Given the description of an element on the screen output the (x, y) to click on. 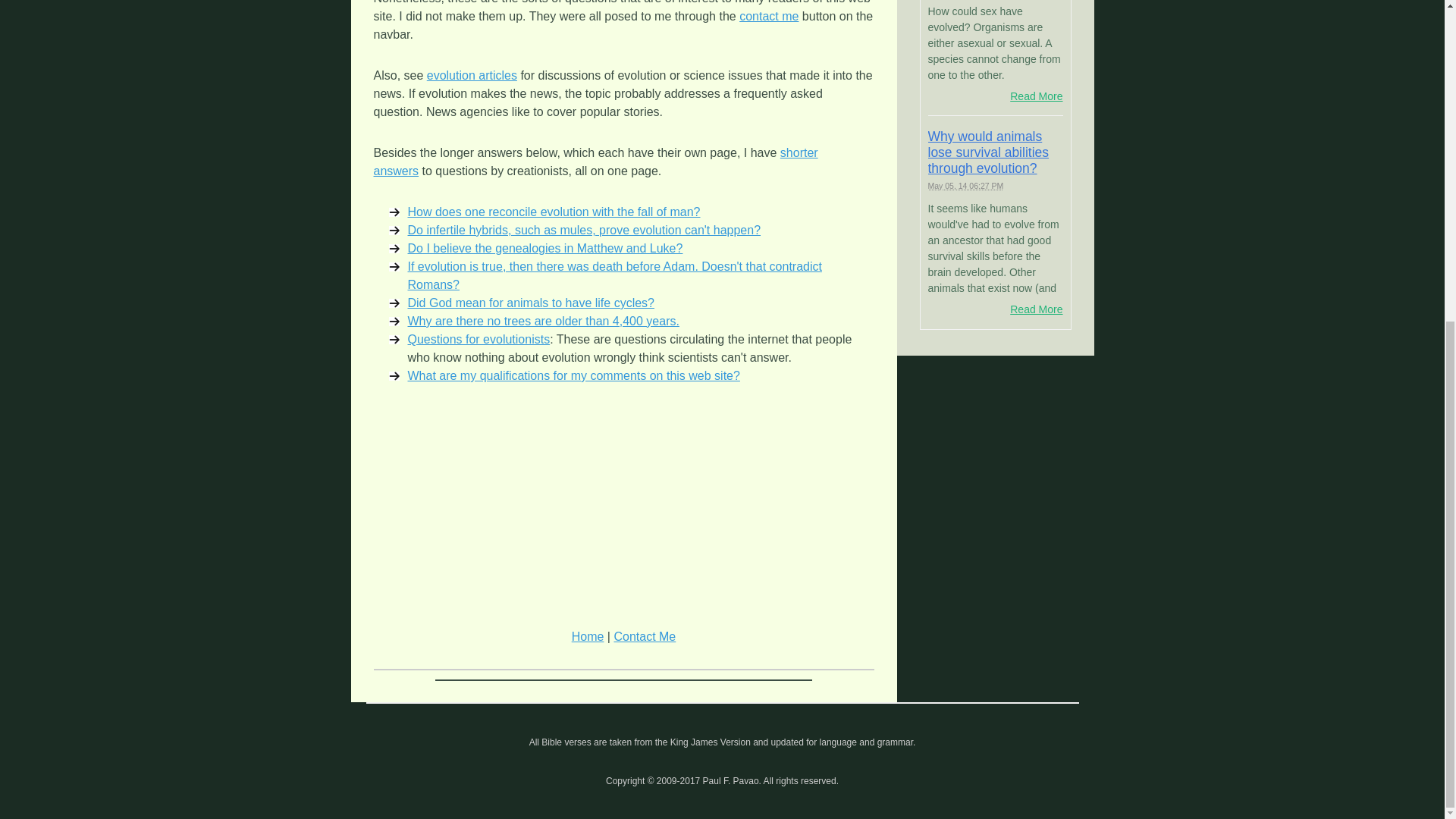
contact me (768, 15)
Questions for evolutionists (478, 338)
Advertisement (622, 513)
What are my qualifications for my comments on this web site? (573, 375)
2014-05-05T18:27:34-0400 (966, 185)
Do I believe the genealogies in Matthew and Luke? (544, 247)
How does one reconcile evolution with the fall of man? (553, 211)
Did God mean for animals to have life cycles? (530, 302)
Home (588, 635)
Why are there no trees are older than 4,400 years. (543, 320)
shorter answers (594, 161)
evolution articles (471, 74)
Contact Me (643, 635)
